Given the description of an element on the screen output the (x, y) to click on. 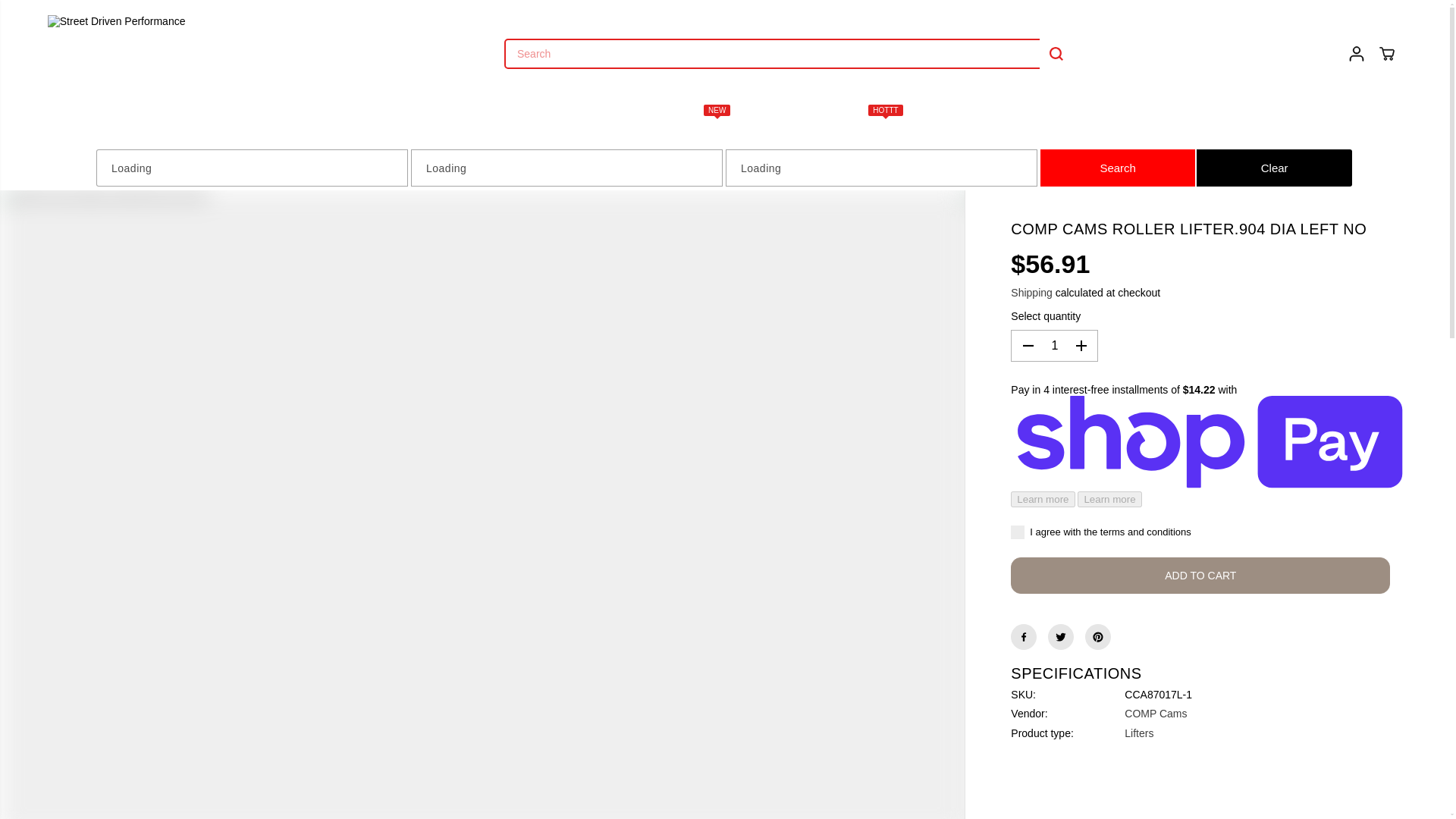
View Catalog (452, 126)
Search (1118, 167)
1 (1053, 345)
Search (1118, 167)
Clear (1274, 167)
SKIP TO CONTENT (781, 126)
Log in (60, 18)
Cart (1356, 53)
